Given the description of an element on the screen output the (x, y) to click on. 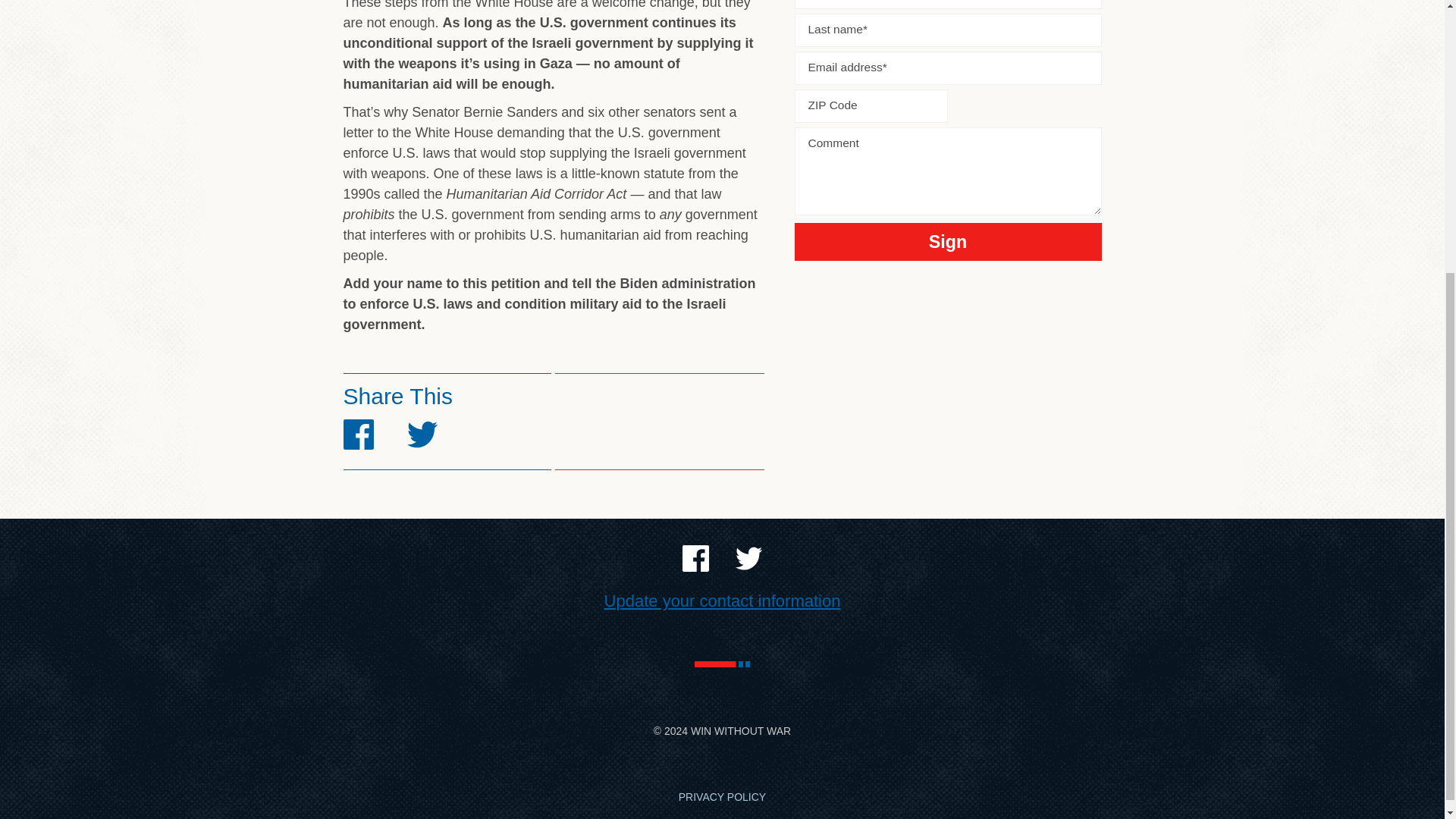
Sign (948, 241)
PRIVACY POLICY (721, 797)
Update your contact information (722, 600)
